Given the description of an element on the screen output the (x, y) to click on. 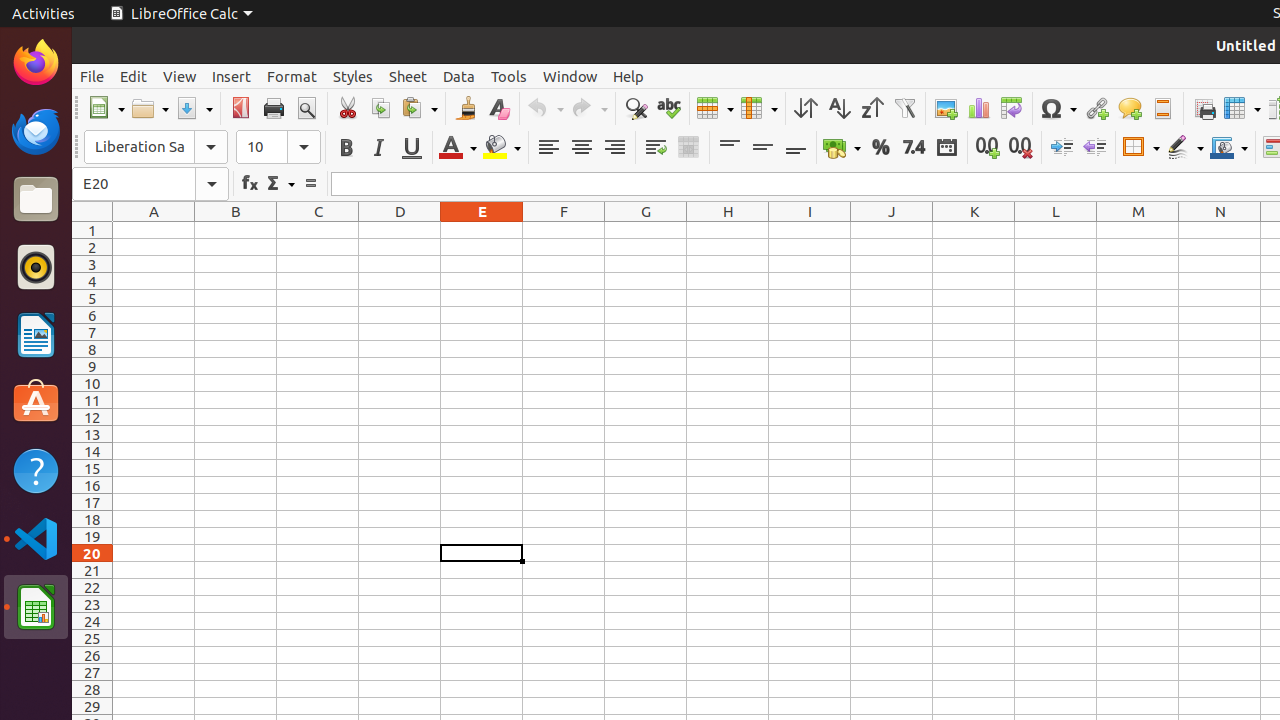
Align Bottom Element type: push-button (795, 147)
Edit Element type: menu (133, 76)
Center Vertically Element type: push-button (762, 147)
N1 Element type: table-cell (1220, 230)
Print Area Element type: push-button (1203, 108)
